Given the description of an element on the screen output the (x, y) to click on. 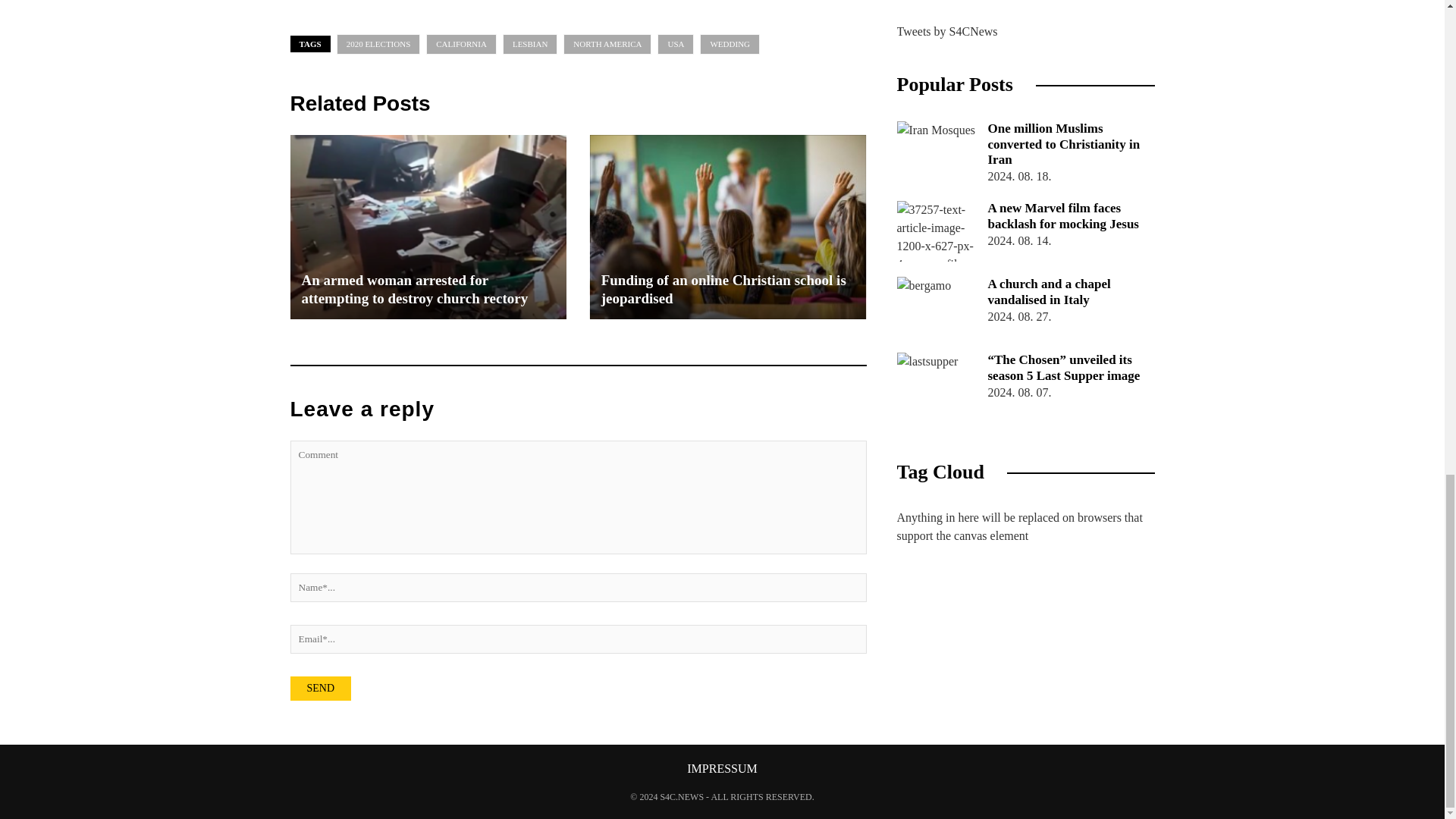
A new Marvel film faces backlash for mocking Jesus (937, 230)
Send (319, 688)
View all posts tagged lesbian (529, 44)
USA (676, 44)
View all posts tagged california (461, 44)
One million Muslims converted to Christianity in Iran (937, 151)
NORTH AMERICA (606, 44)
View all posts tagged North America (606, 44)
WEDDING (730, 44)
View all posts tagged 2020 elections (378, 44)
